Given the description of an element on the screen output the (x, y) to click on. 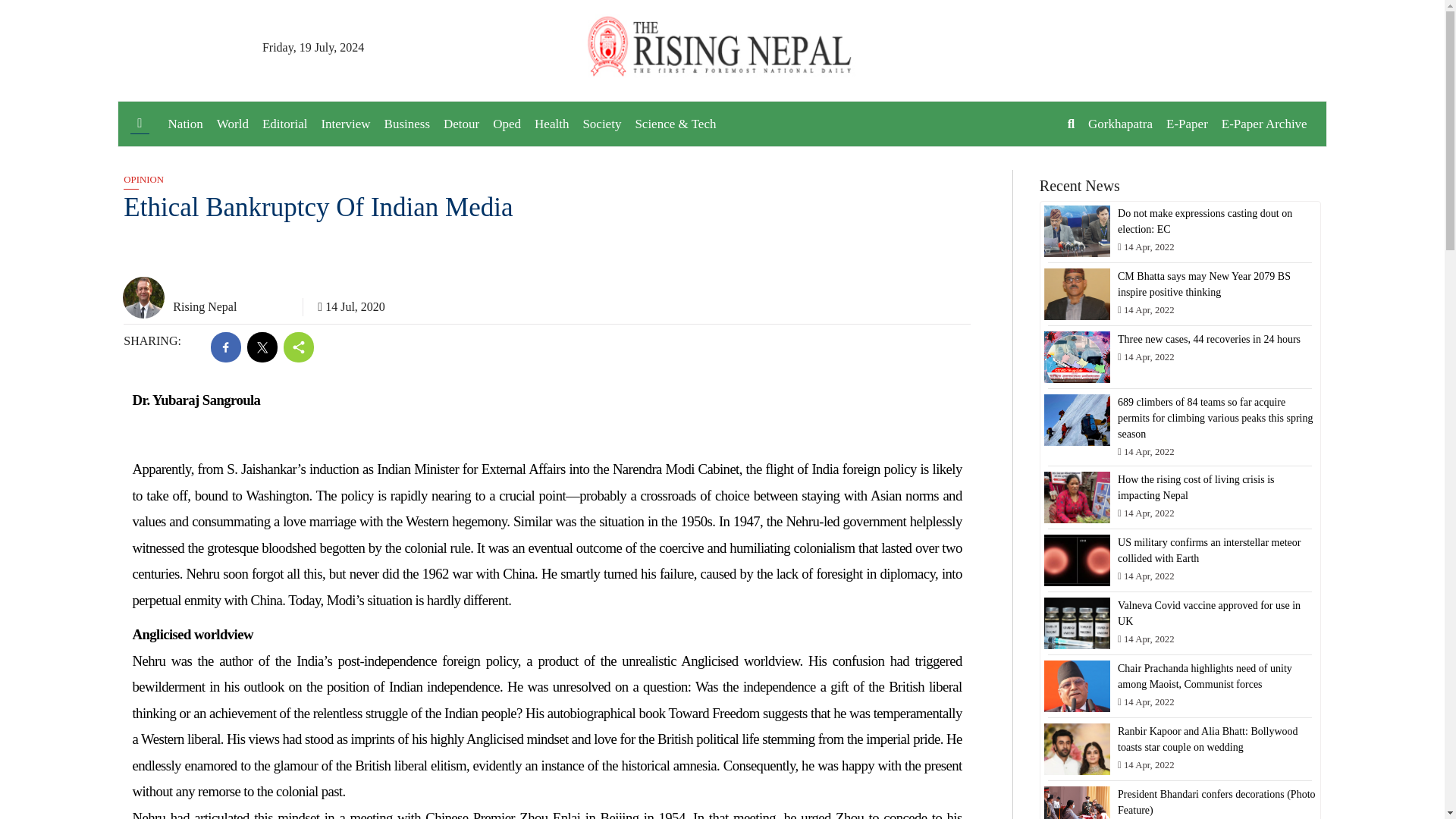
Interview (345, 123)
Gorkhapatra (1119, 123)
Editorial (285, 123)
Society (601, 123)
Nation (185, 123)
Oped (506, 123)
Health (551, 123)
E-Paper (1186, 123)
World (232, 123)
Business (406, 123)
Detour (461, 123)
OPINION (143, 180)
